Given the description of an element on the screen output the (x, y) to click on. 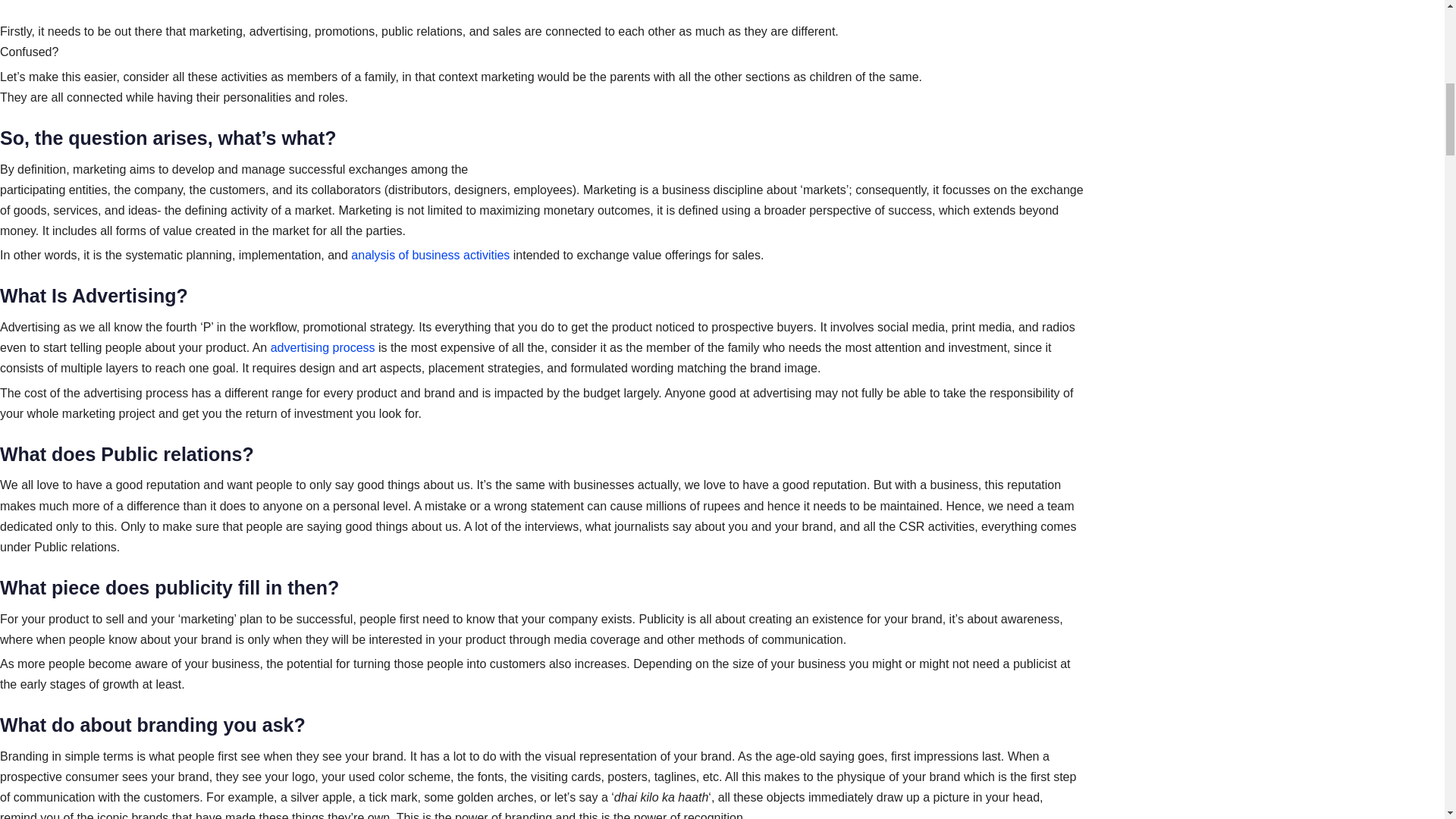
advertising process (322, 347)
analysis of business activities (429, 254)
